Given the description of an element on the screen output the (x, y) to click on. 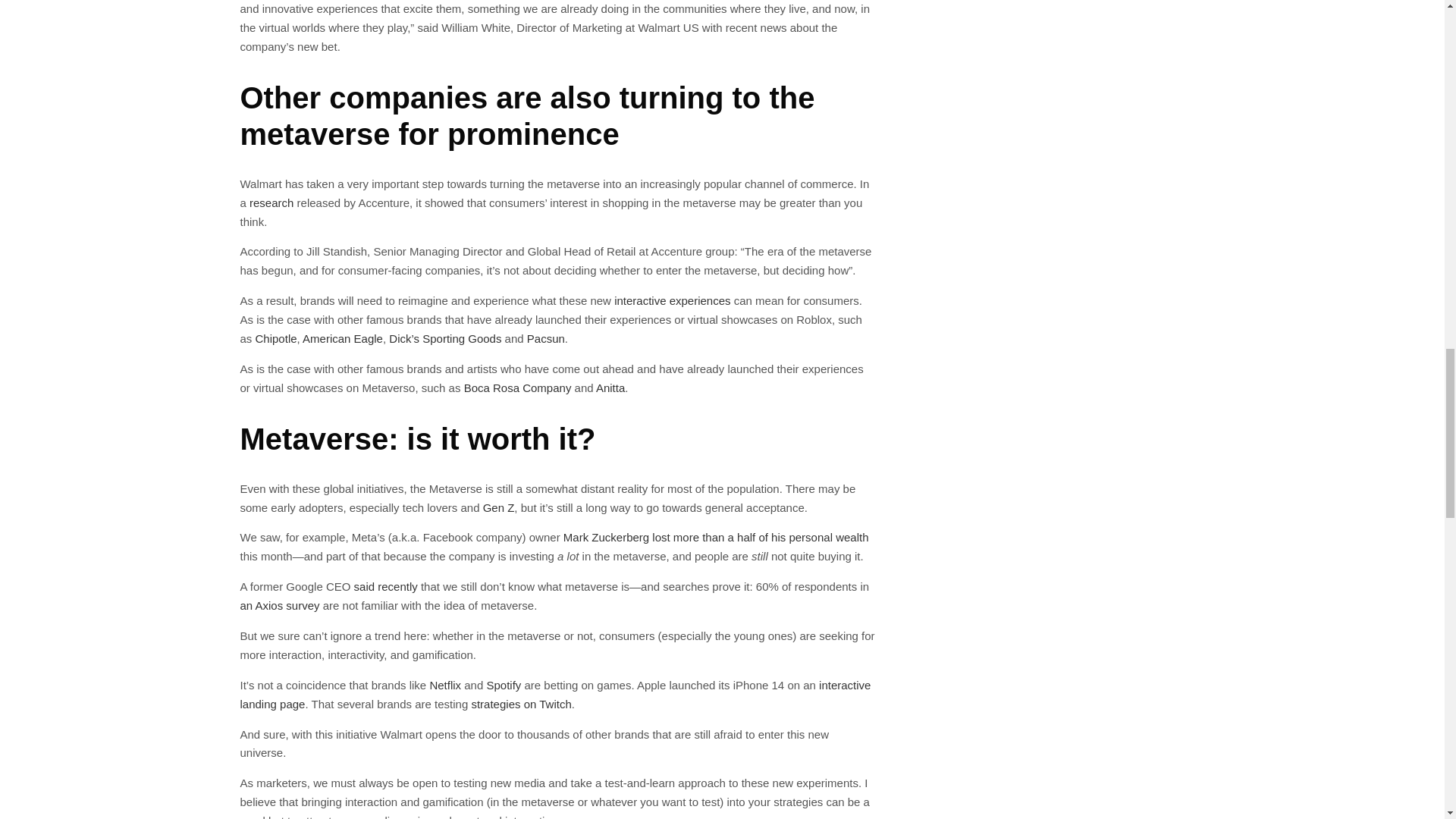
interactive experiences (672, 300)
research (271, 202)
American Eagle (342, 338)
Chipotle (276, 338)
